Given the description of an element on the screen output the (x, y) to click on. 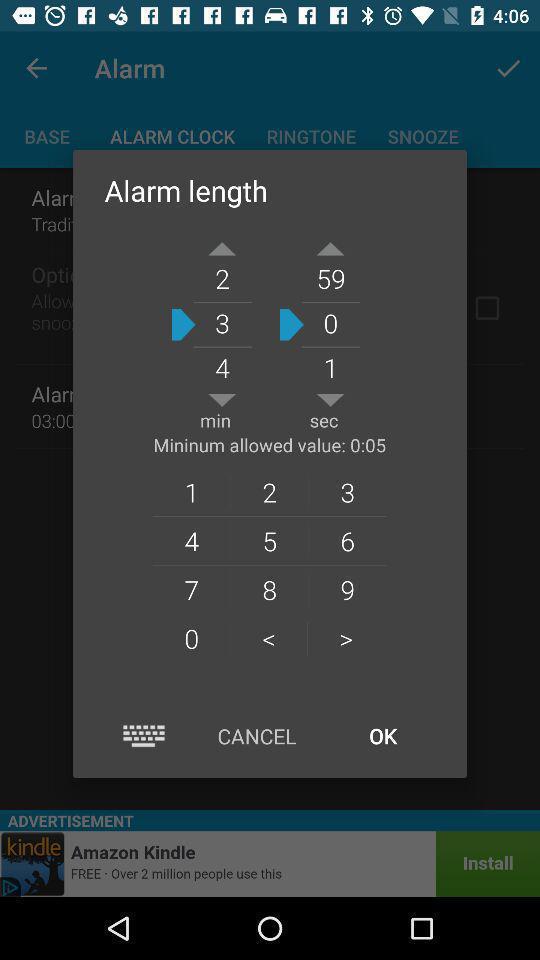
turn off the icon below > (382, 735)
